Given the description of an element on the screen output the (x, y) to click on. 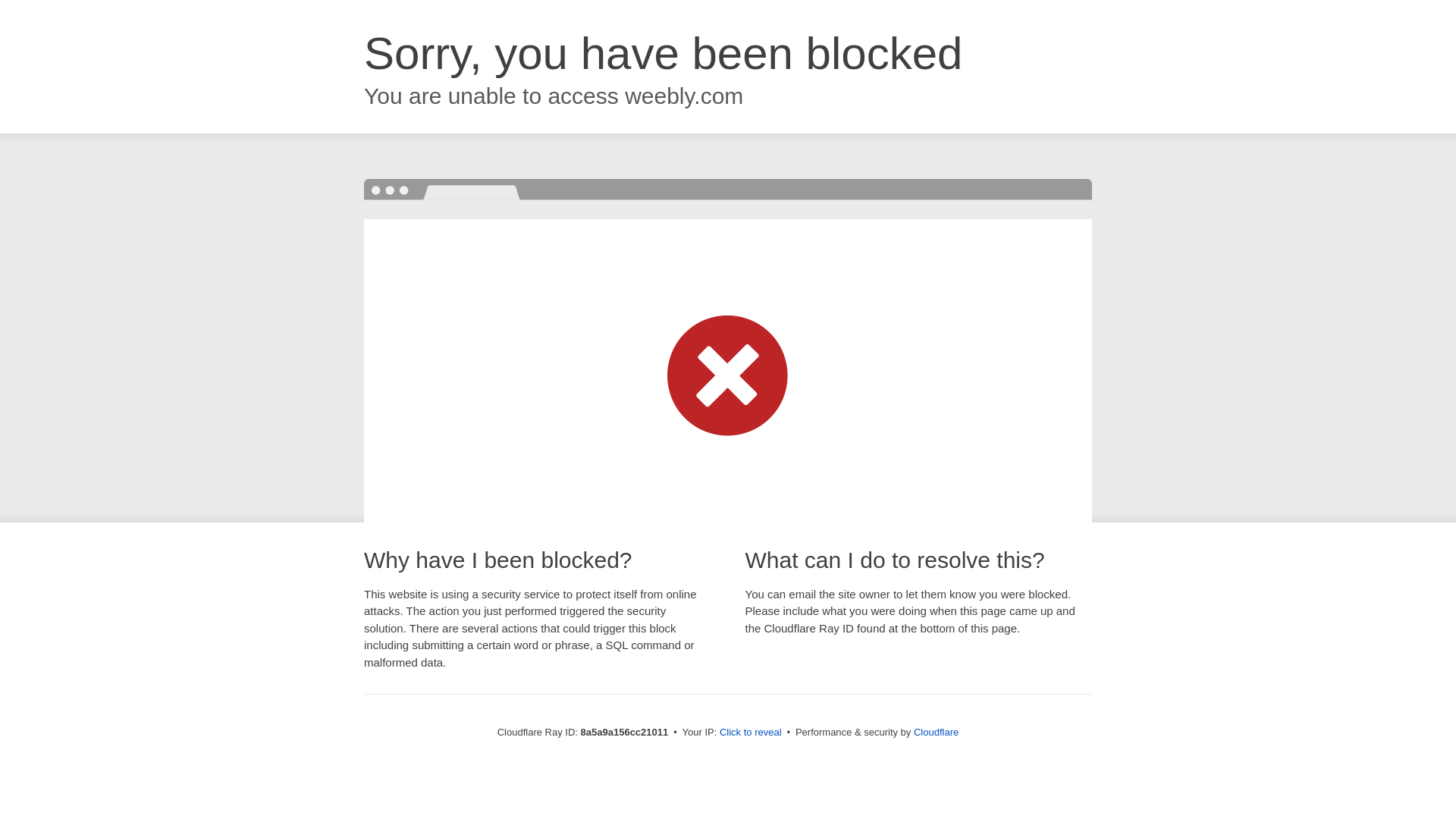
Click to reveal (750, 732)
Cloudflare (936, 731)
